Given the description of an element on the screen output the (x, y) to click on. 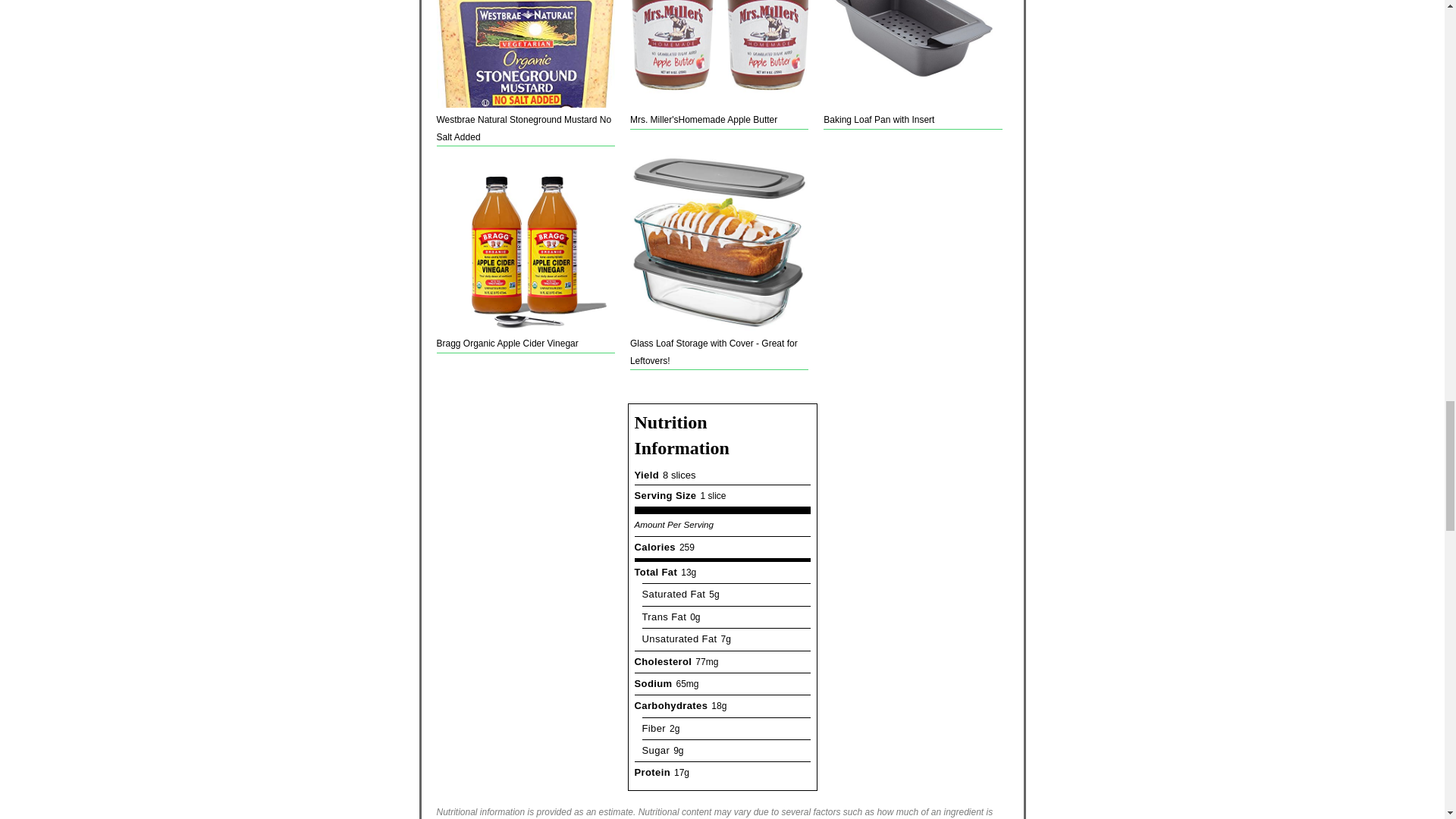
Baking Loaf Pan with Insert (912, 64)
Bragg Organic Apple Cider Vinegar  (525, 252)
Westbrae Natural Stoneground Mustard No Salt Added (525, 72)
Mrs. Miller'sHomemade Apple Butter  (719, 64)
